Given the description of an element on the screen output the (x, y) to click on. 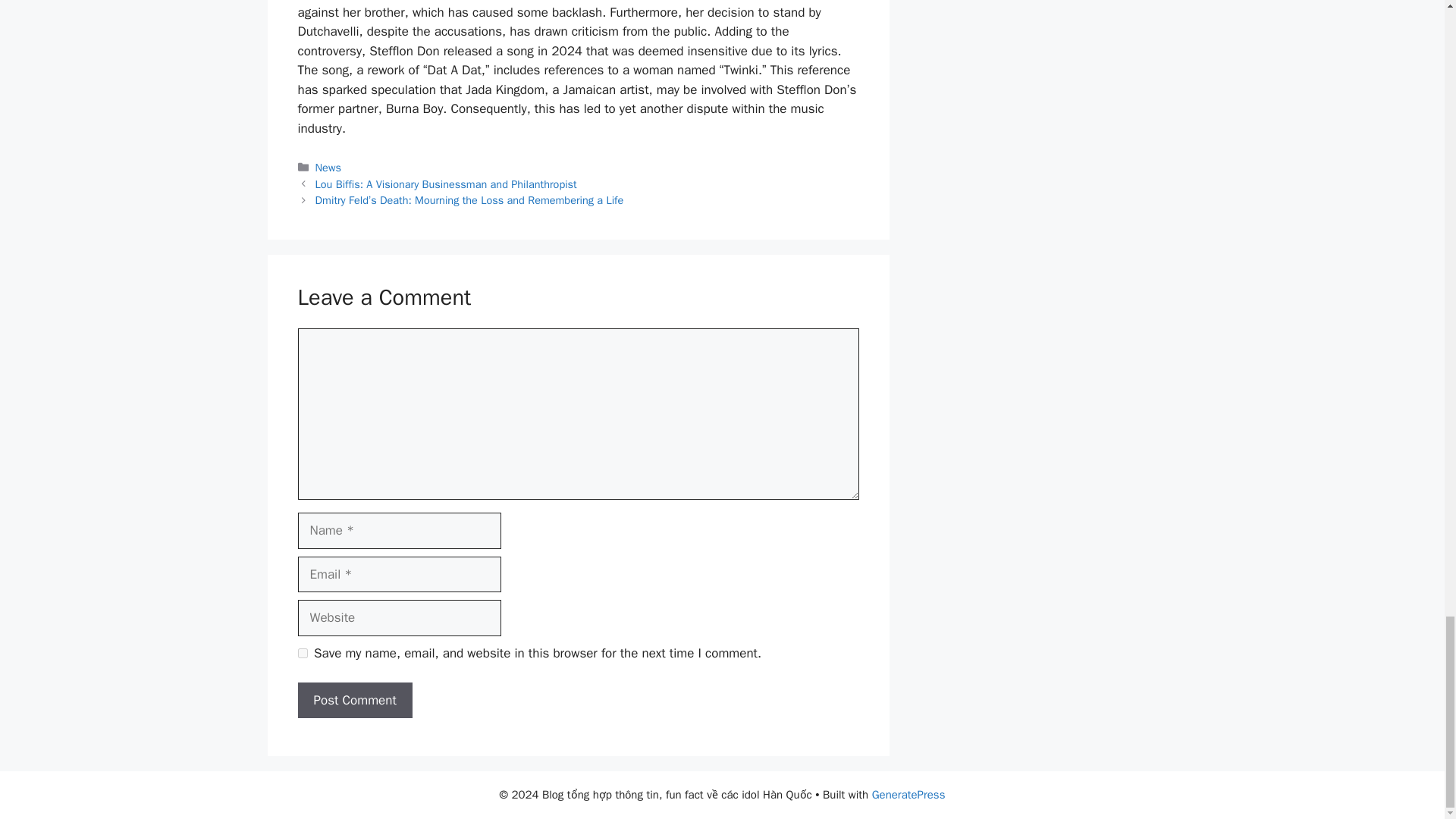
Post Comment (354, 700)
GeneratePress (908, 794)
Lou Biffis: A Visionary Businessman and Philanthropist (445, 183)
yes (302, 653)
News (327, 167)
Post Comment (354, 700)
